Given the description of an element on the screen output the (x, y) to click on. 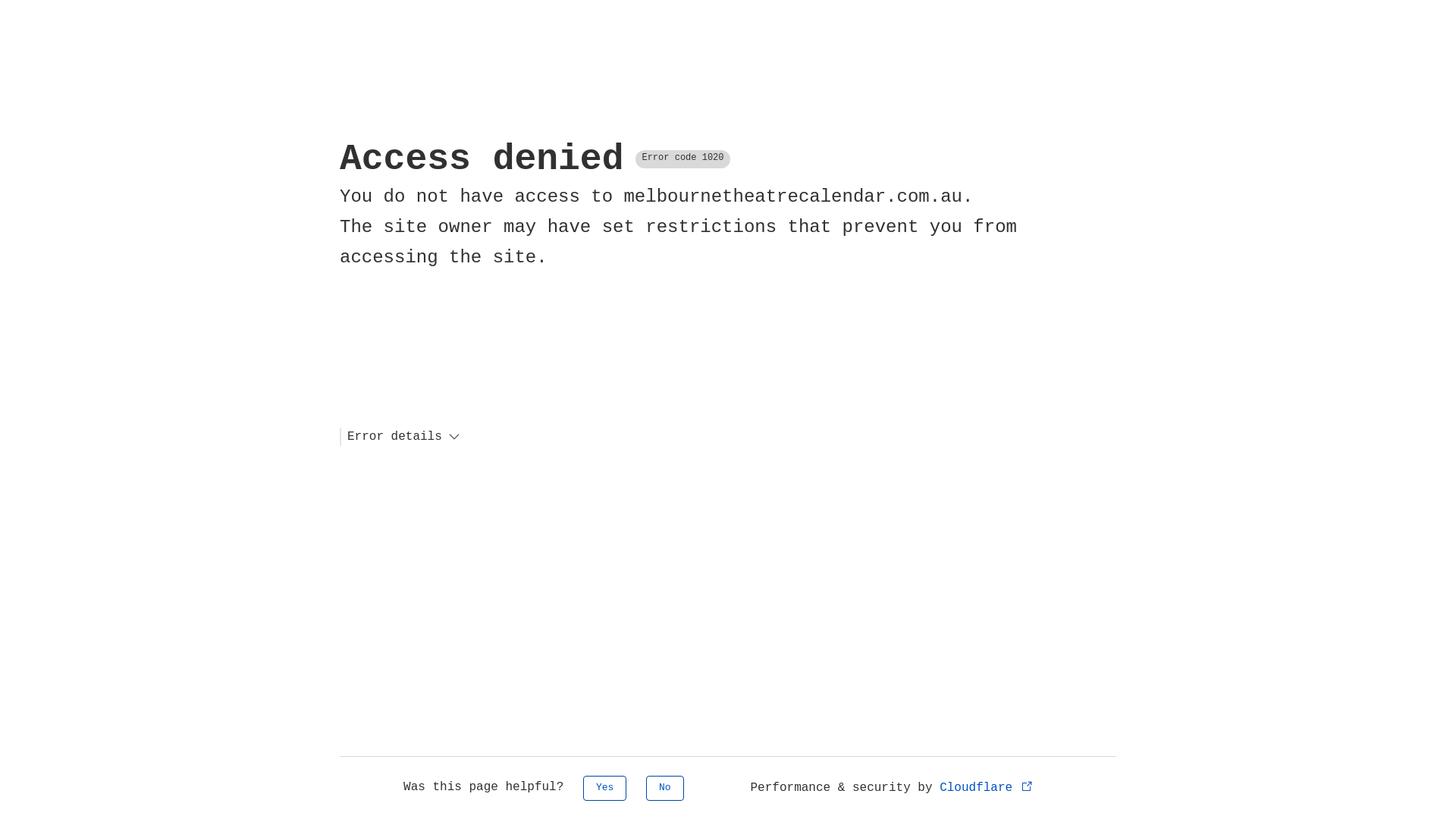
No Element type: text (665, 787)
Cloudflare Element type: text (986, 787)
Opens in new tab Element type: hover (1027, 785)
Yes Element type: text (604, 787)
